Given the description of an element on the screen output the (x, y) to click on. 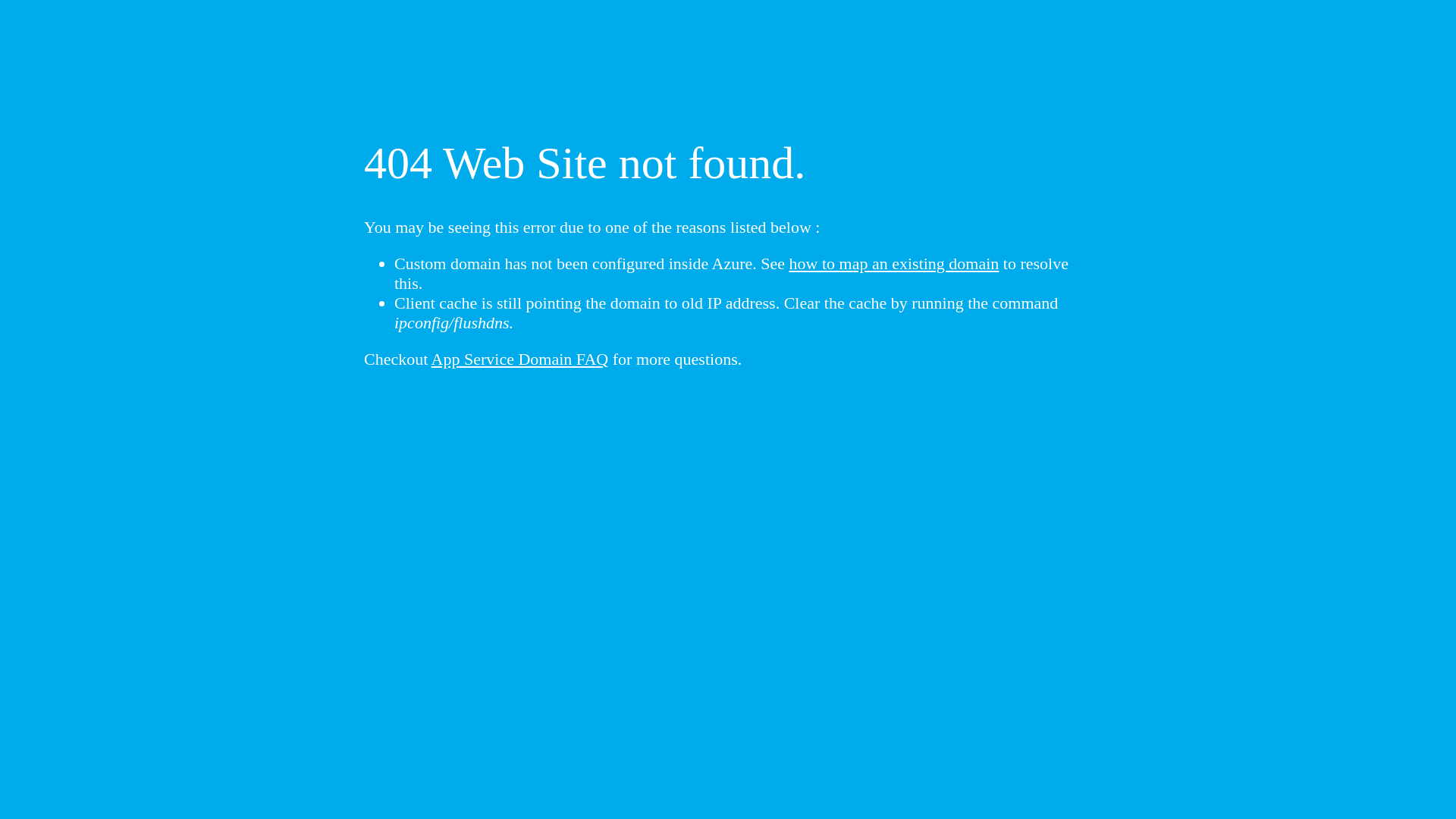
how to map an existing domain Element type: text (894, 263)
App Service Domain FAQ Element type: text (519, 358)
